Given the description of an element on the screen output the (x, y) to click on. 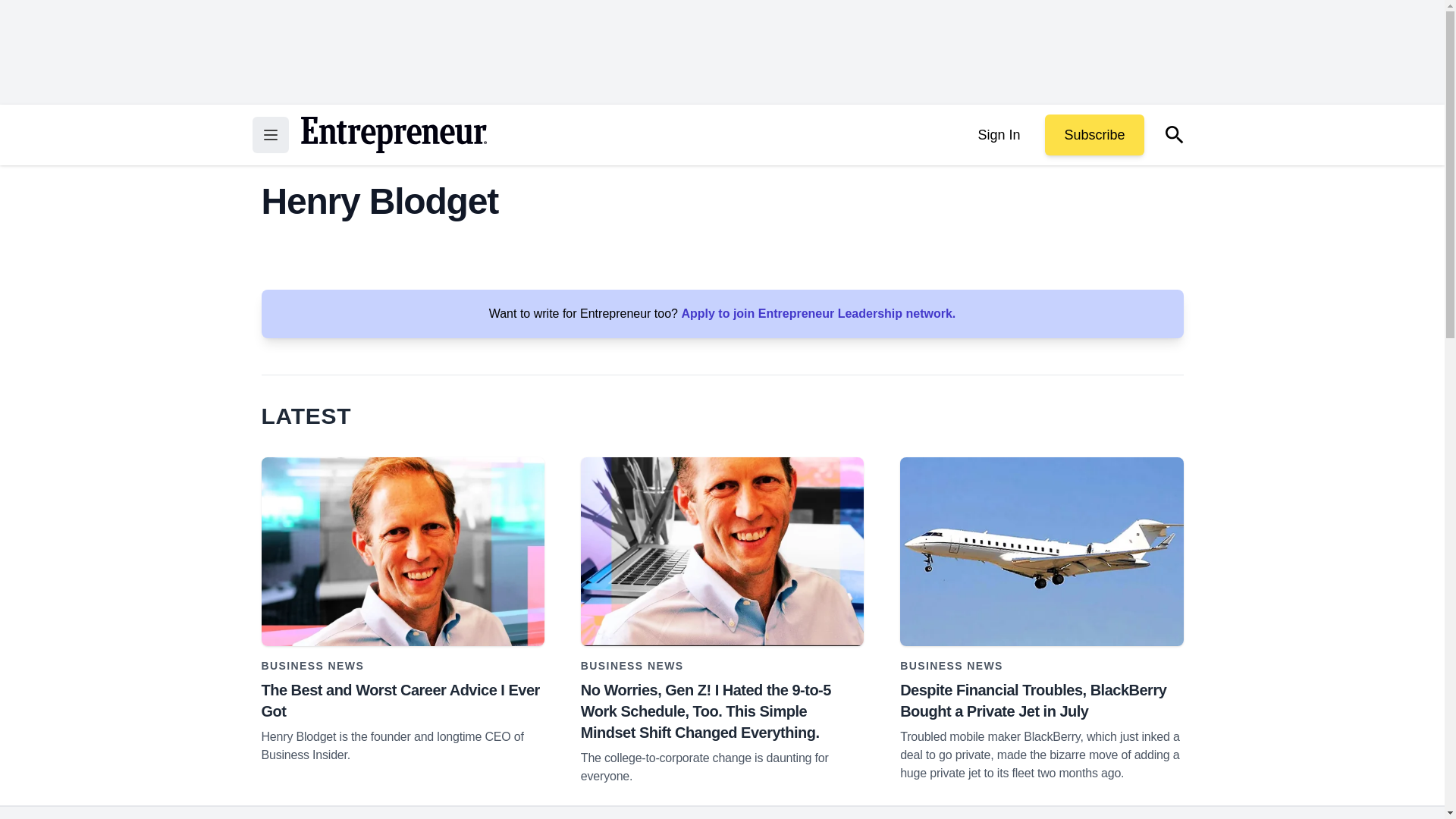
Sign In (998, 134)
Return to the home page (392, 135)
Subscribe (1093, 134)
